Given the description of an element on the screen output the (x, y) to click on. 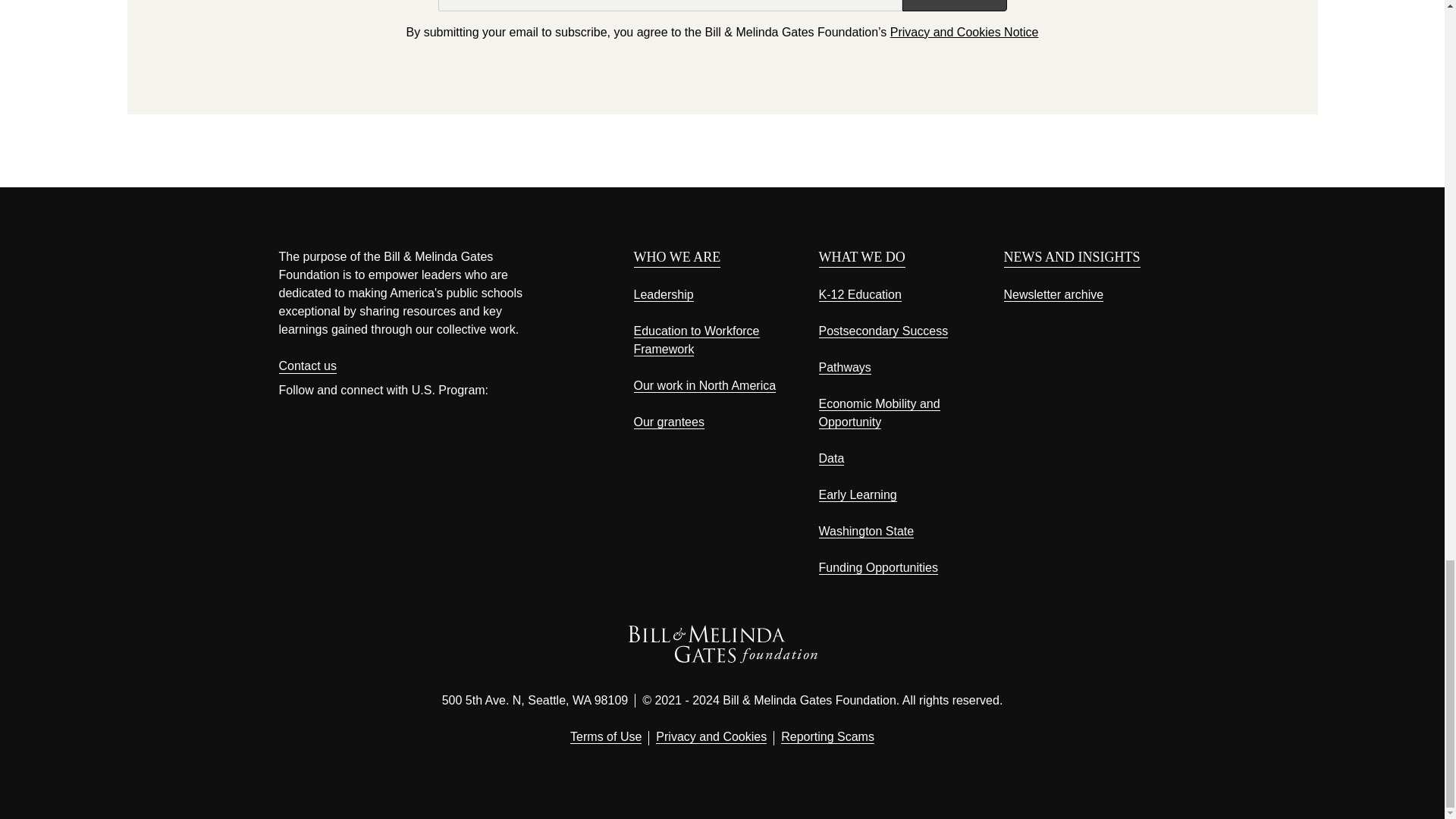
Our work in North America (704, 386)
Contact us (307, 366)
Early Learning (857, 495)
Subscribe (954, 5)
Education to Workforce Framework (696, 340)
Leadership (663, 295)
Data (831, 459)
WHO WE ARE (676, 256)
Washington State (866, 531)
Economic Mobility and Opportunity (879, 413)
